Given the description of an element on the screen output the (x, y) to click on. 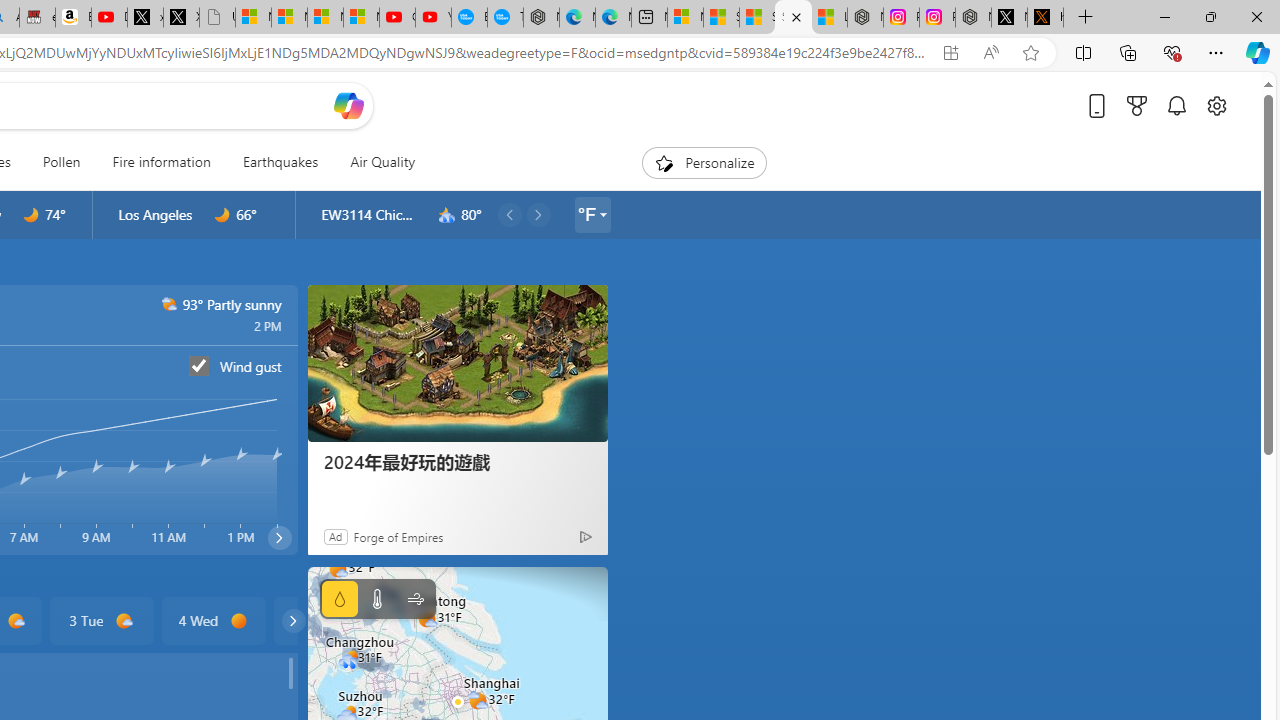
The most popular Google 'how to' searches (505, 17)
common/carouselChevron (293, 620)
Nordace - Nordace has arrived Hong Kong (541, 17)
Gloom - YouTube (397, 17)
Open settings (1216, 105)
Fire information (161, 162)
common/carouselChevron (293, 620)
Day 1: Arriving in Yemen (surreal to be here) - YouTube (109, 17)
Nordace (@NordaceOfficial) / X (1009, 17)
